Given the description of an element on the screen output the (x, y) to click on. 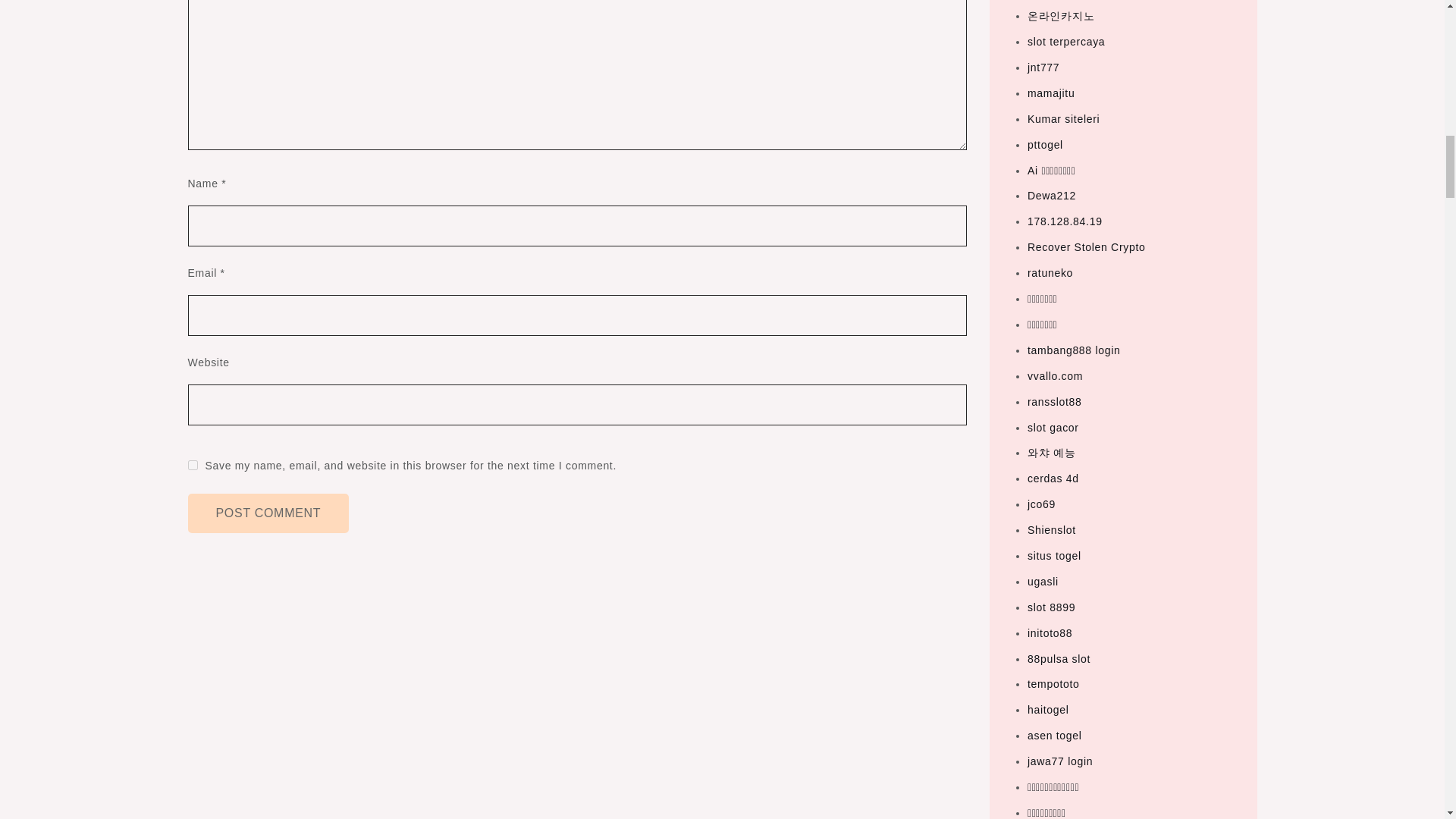
Post Comment (268, 513)
yes (192, 465)
Post Comment (268, 513)
